Given the description of an element on the screen output the (x, y) to click on. 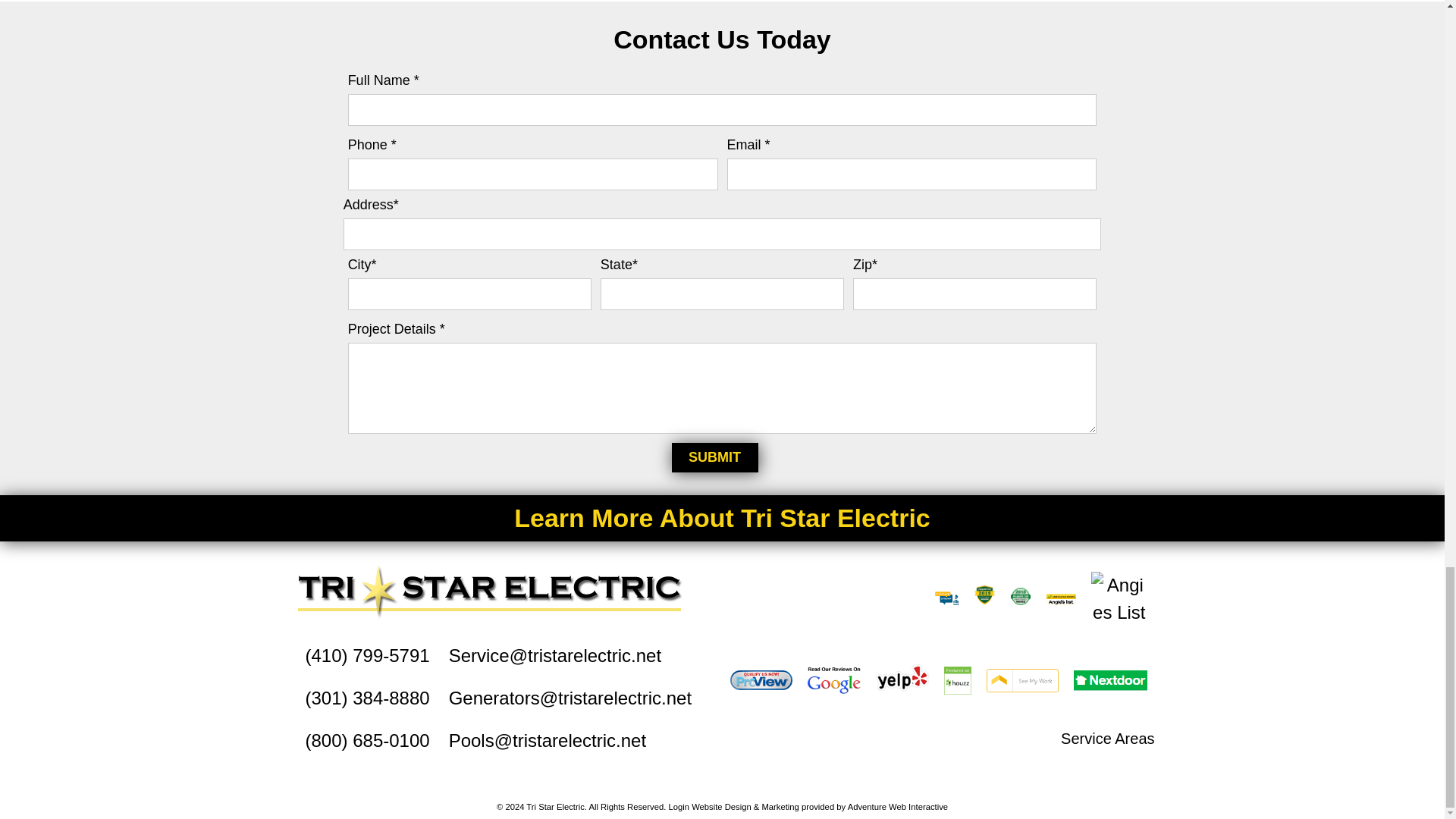
Submit (714, 458)
